Given the description of an element on the screen output the (x, y) to click on. 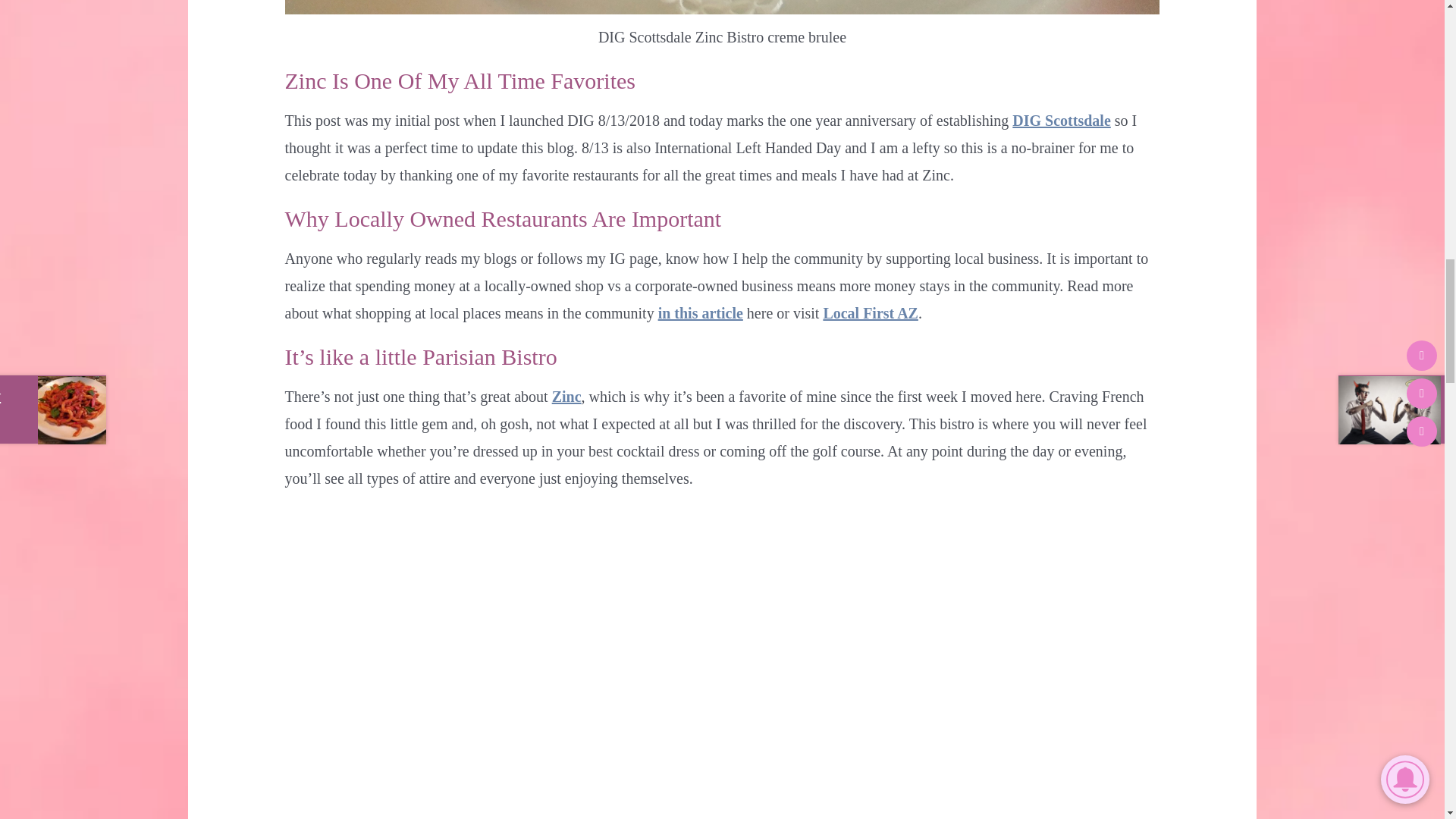
Zinc (565, 396)
Local First AZ (870, 312)
DIG Scottsdale (1060, 120)
in this article (700, 312)
